Given the description of an element on the screen output the (x, y) to click on. 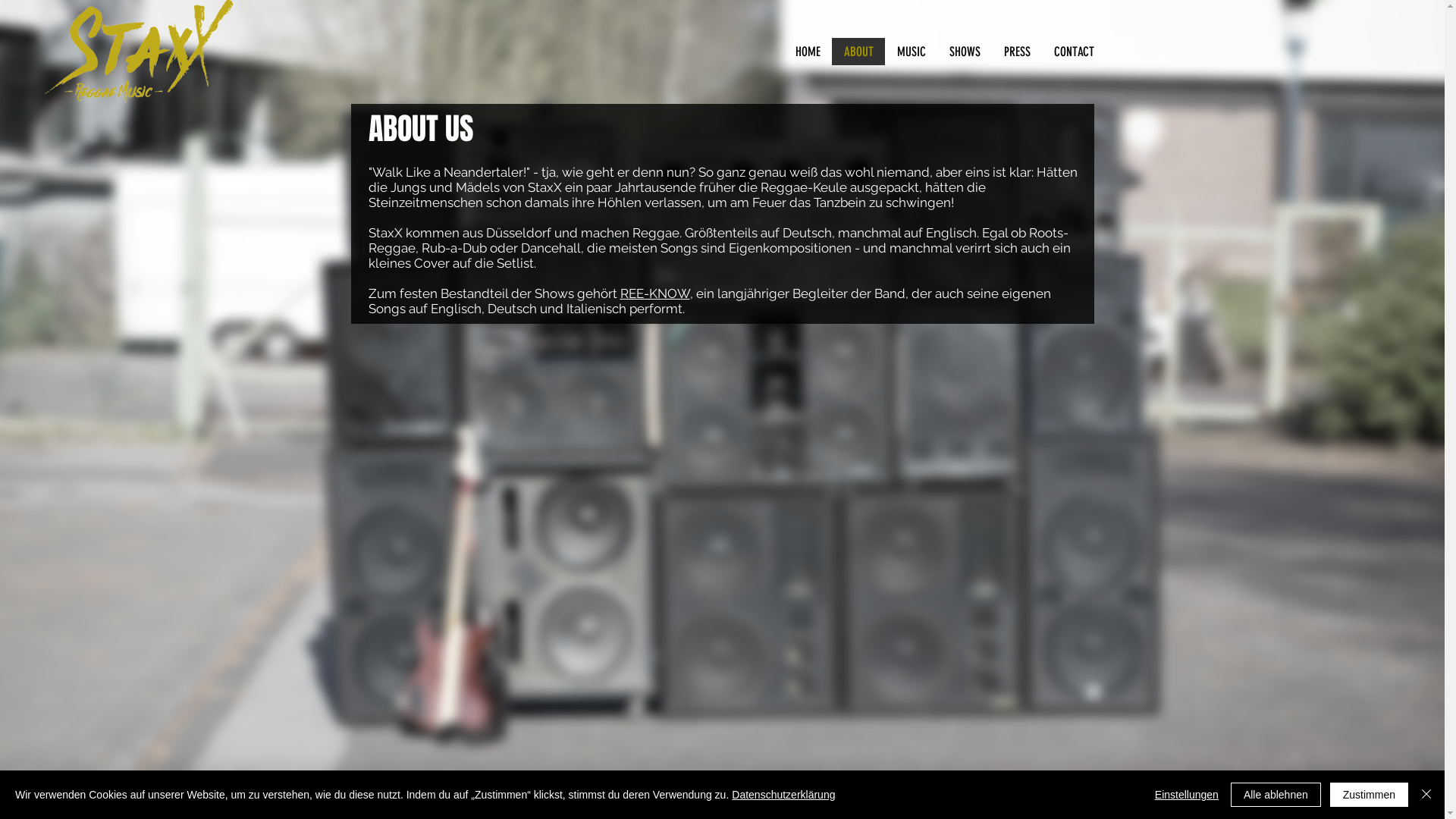
ABOUT Element type: text (857, 51)
CONTACT Element type: text (1073, 51)
Zustimmen Element type: text (1369, 794)
PRESS Element type: text (1016, 51)
Alle ablehnen Element type: text (1275, 794)
MUSIC Element type: text (910, 51)
HOME Element type: text (806, 51)
IMPRESSUM Element type: text (371, 798)
SHOWS Element type: text (964, 51)
REE-KNOW Element type: text (655, 293)
